Given the description of an element on the screen output the (x, y) to click on. 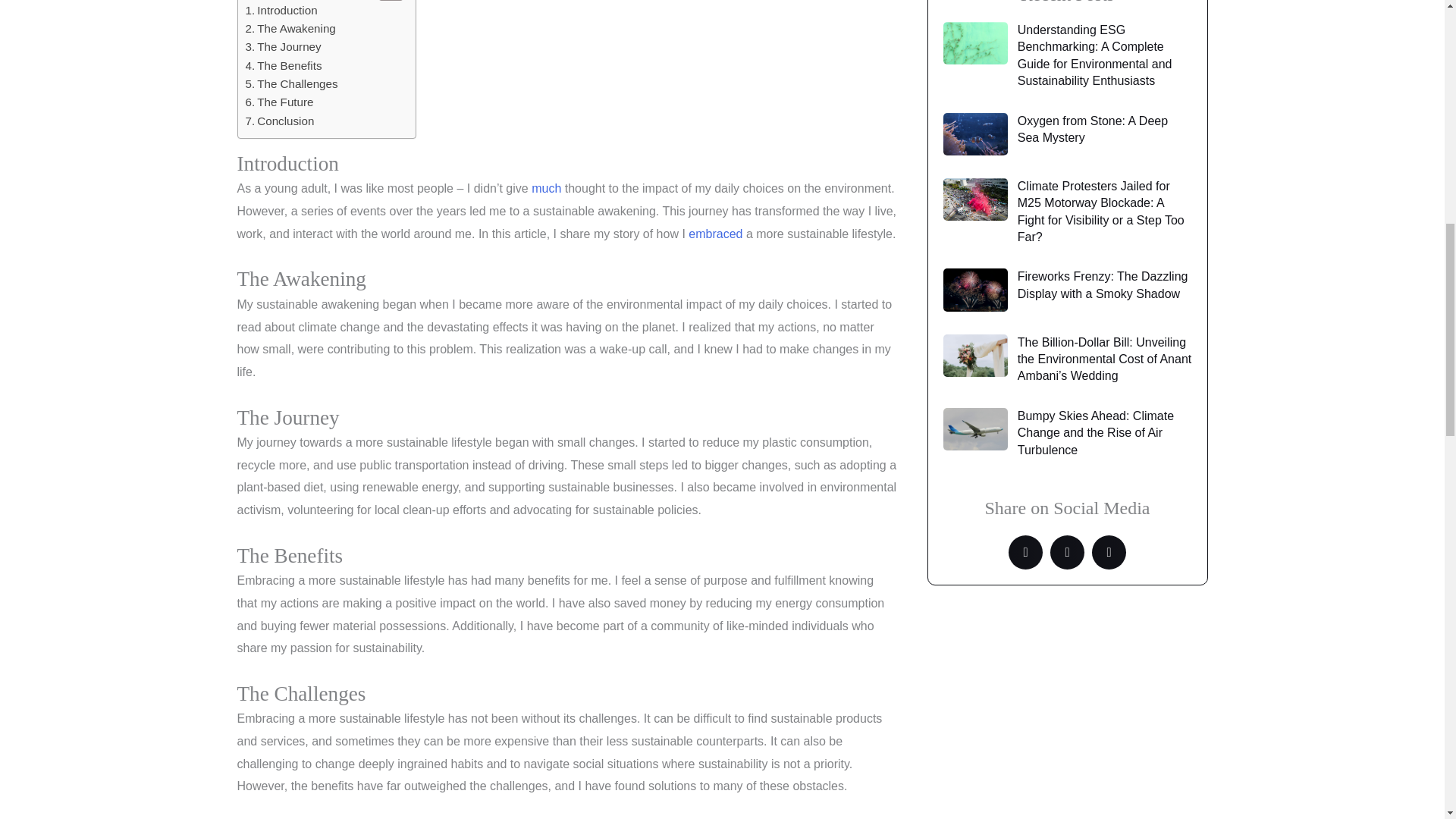
The Challenges (291, 84)
Conclusion (280, 121)
The Awakening (291, 28)
Conclusion (280, 121)
The Journey (283, 46)
much (545, 187)
The Future (280, 102)
The Future (280, 102)
The Benefits (283, 65)
Introduction (281, 10)
